Given the description of an element on the screen output the (x, y) to click on. 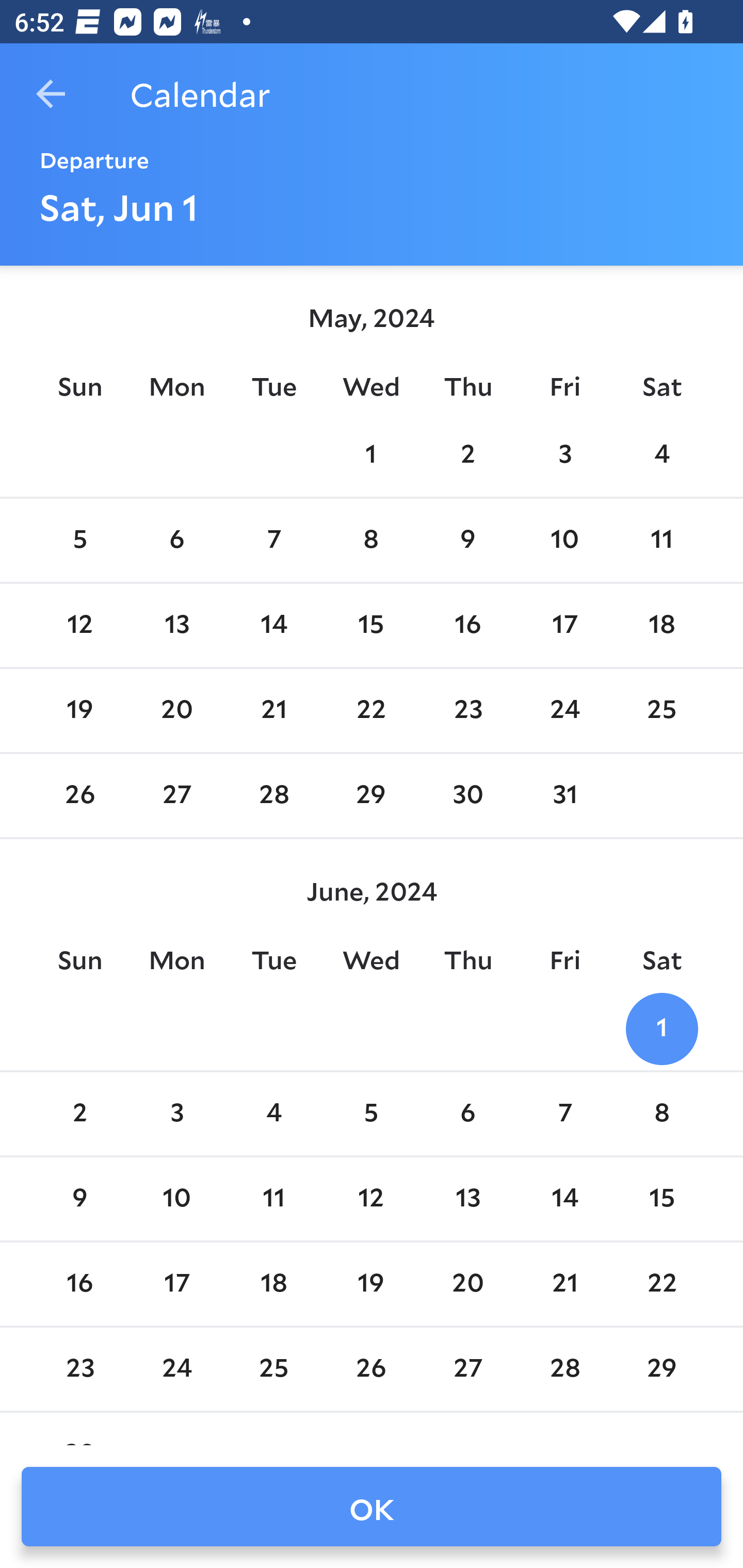
Navigate up (50, 93)
1 (371, 454)
2 (467, 454)
3 (565, 454)
4 (661, 454)
5 (79, 540)
6 (177, 540)
7 (273, 540)
8 (371, 540)
9 (467, 540)
10 (565, 540)
11 (661, 540)
12 (79, 625)
13 (177, 625)
14 (273, 625)
15 (371, 625)
16 (467, 625)
17 (565, 625)
18 (661, 625)
19 (79, 710)
20 (177, 710)
21 (273, 710)
22 (371, 710)
23 (467, 710)
24 (565, 710)
25 (661, 710)
26 (79, 796)
27 (177, 796)
28 (273, 796)
29 (371, 796)
30 (467, 796)
31 (565, 796)
1 (661, 1028)
2 (79, 1114)
3 (177, 1114)
4 (273, 1114)
5 (371, 1114)
6 (467, 1114)
7 (565, 1114)
8 (661, 1114)
9 (79, 1199)
10 (177, 1199)
11 (273, 1199)
12 (371, 1199)
13 (467, 1199)
14 (565, 1199)
15 (661, 1199)
16 (79, 1284)
17 (177, 1284)
18 (273, 1284)
